Given the description of an element on the screen output the (x, y) to click on. 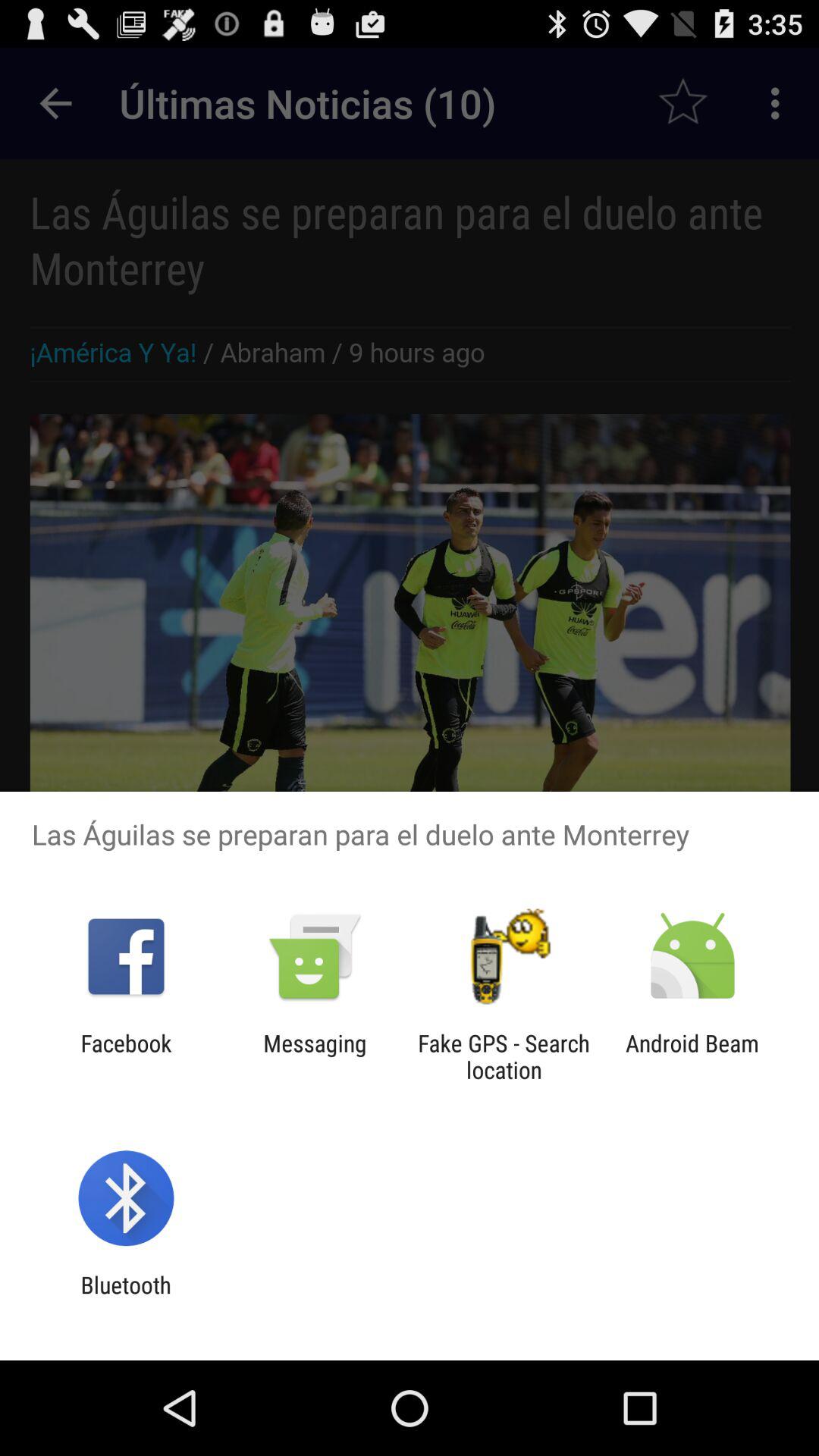
open the messaging item (314, 1056)
